Given the description of an element on the screen output the (x, y) to click on. 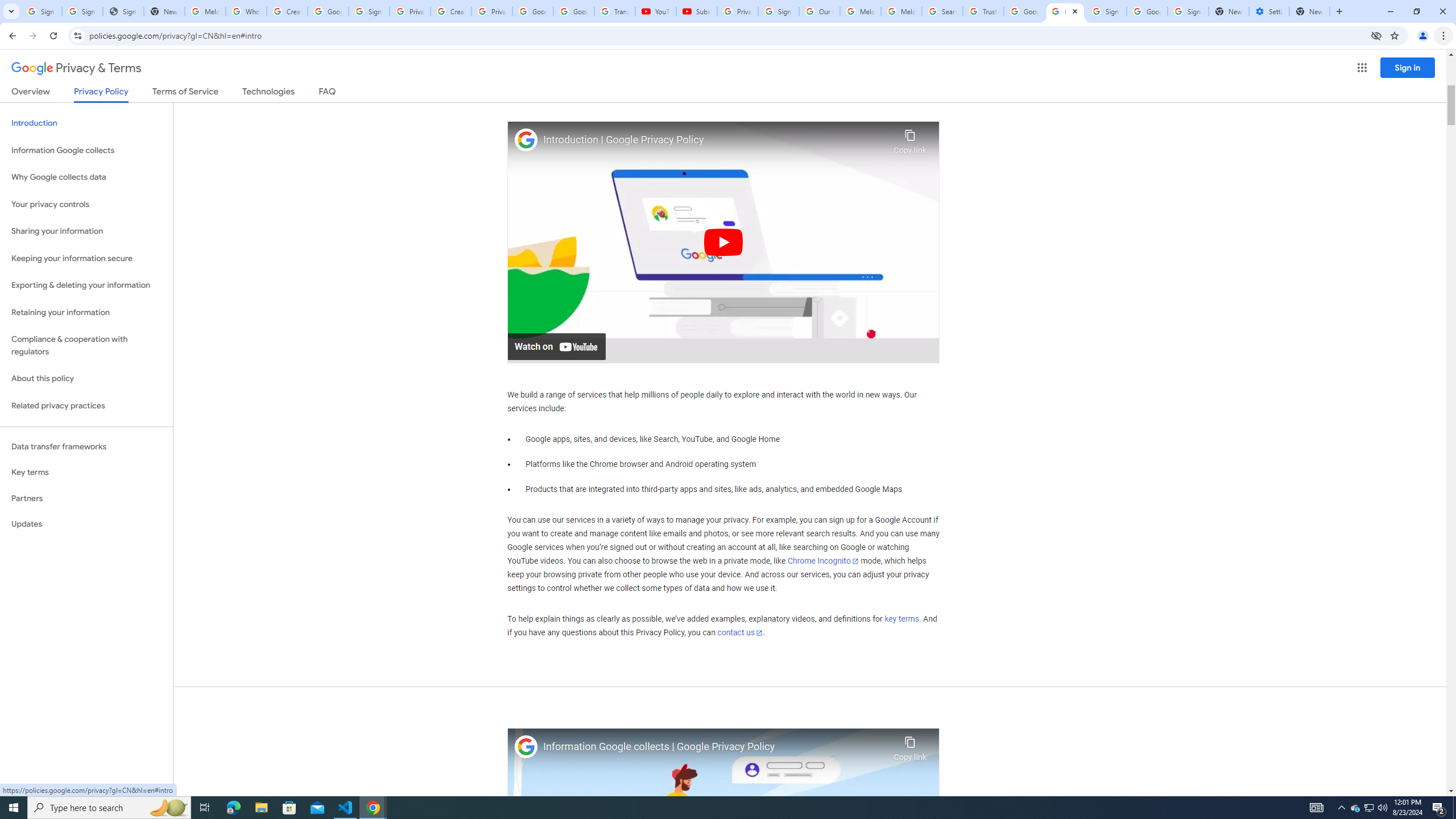
Chrome Incognito (823, 561)
Introduction (86, 122)
Google Ads - Sign in (1023, 11)
Keeping your information secure (86, 258)
Create your Google Account (450, 11)
key terms (900, 619)
Information Google collects | Google Privacy Policy (715, 747)
Key terms (86, 472)
Related privacy practices (86, 405)
Who is my administrator? - Google Account Help (246, 11)
